Given the description of an element on the screen output the (x, y) to click on. 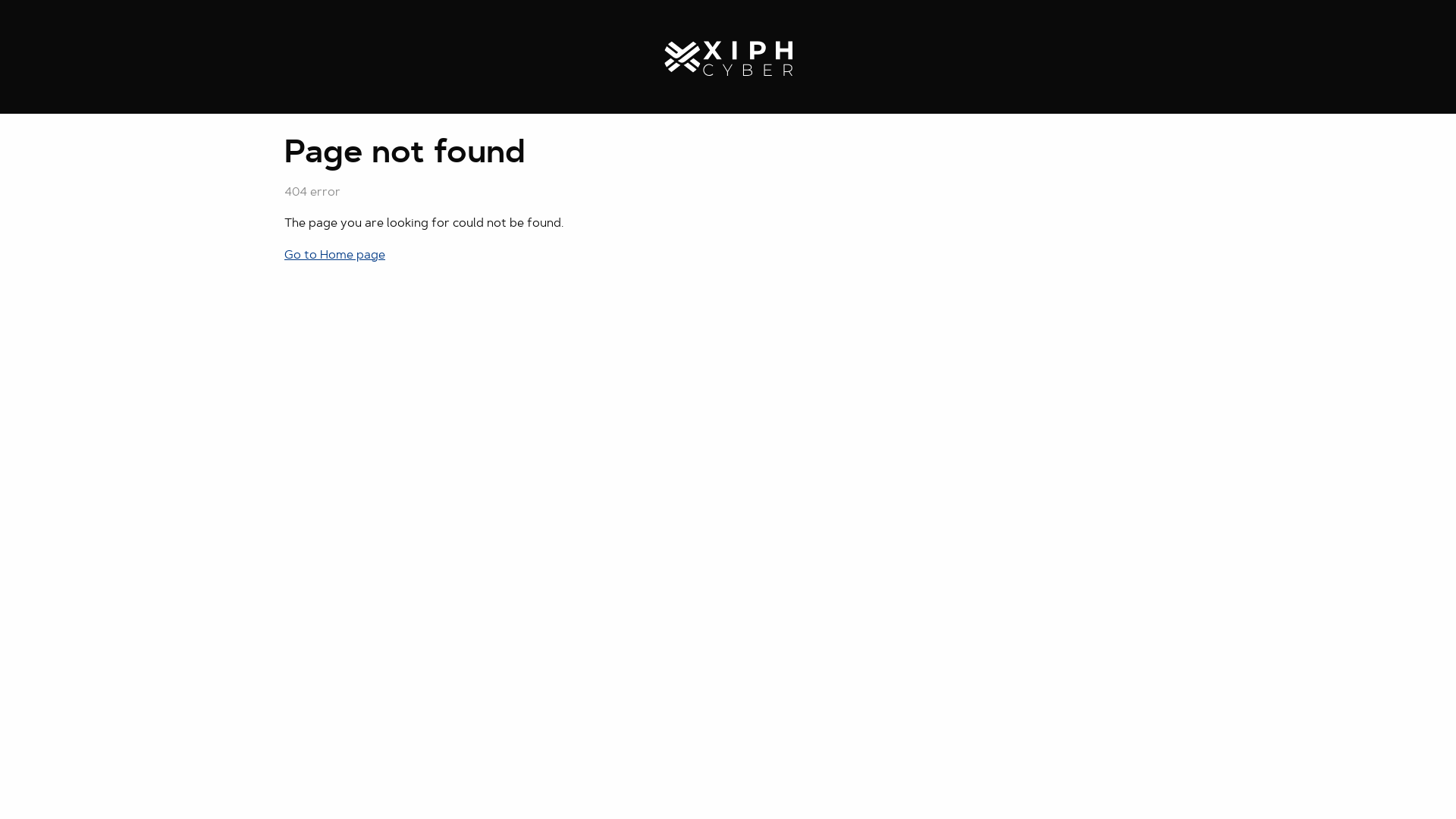
Go to Home page Element type: text (334, 255)
